Given the description of an element on the screen output the (x, y) to click on. 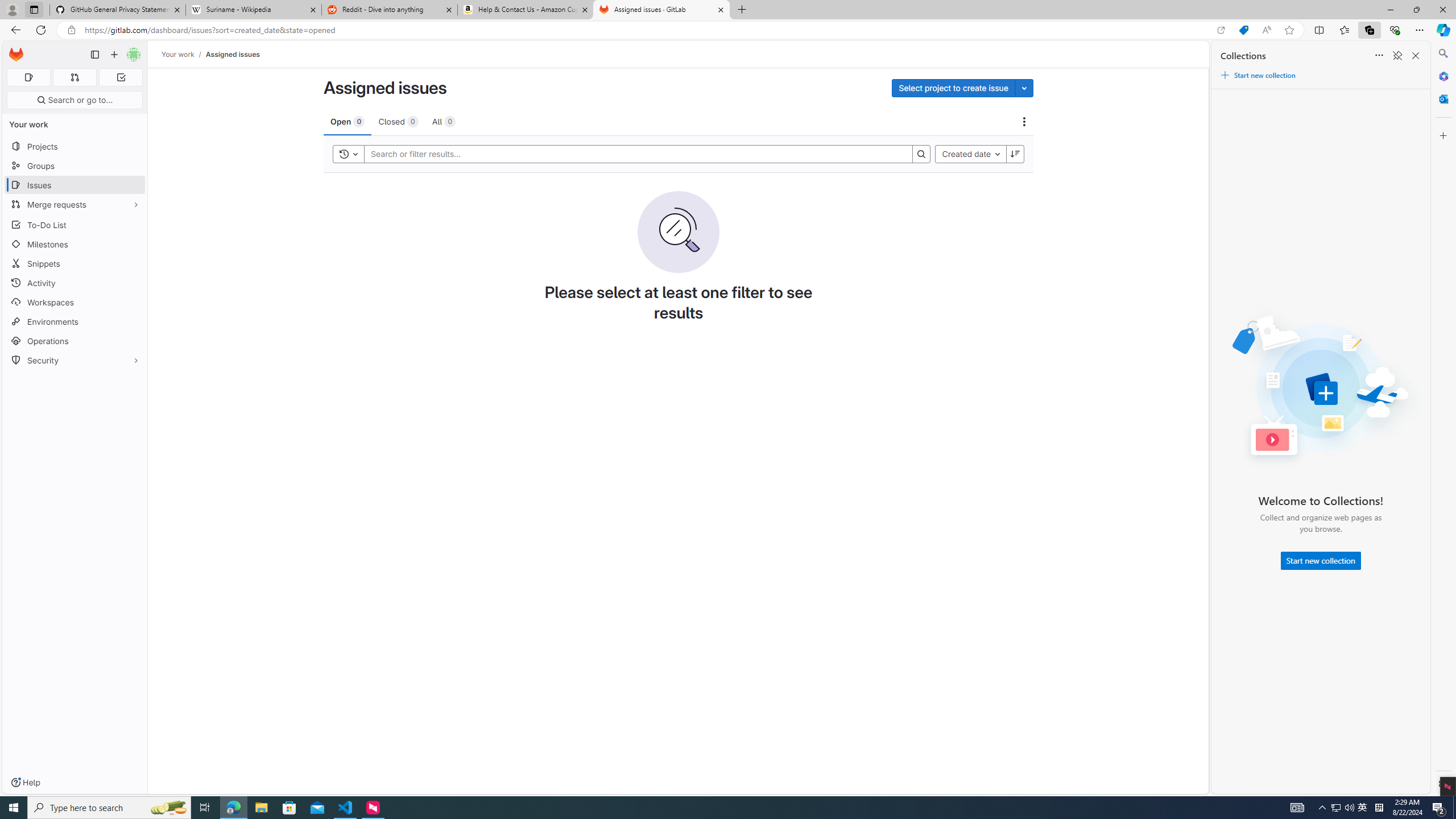
Actions (1023, 121)
Select project to create issue (952, 87)
Created date (970, 153)
Shopping in Microsoft Edge (1243, 29)
Environments (74, 321)
Primary navigation sidebar (94, 54)
